Given the description of an element on the screen output the (x, y) to click on. 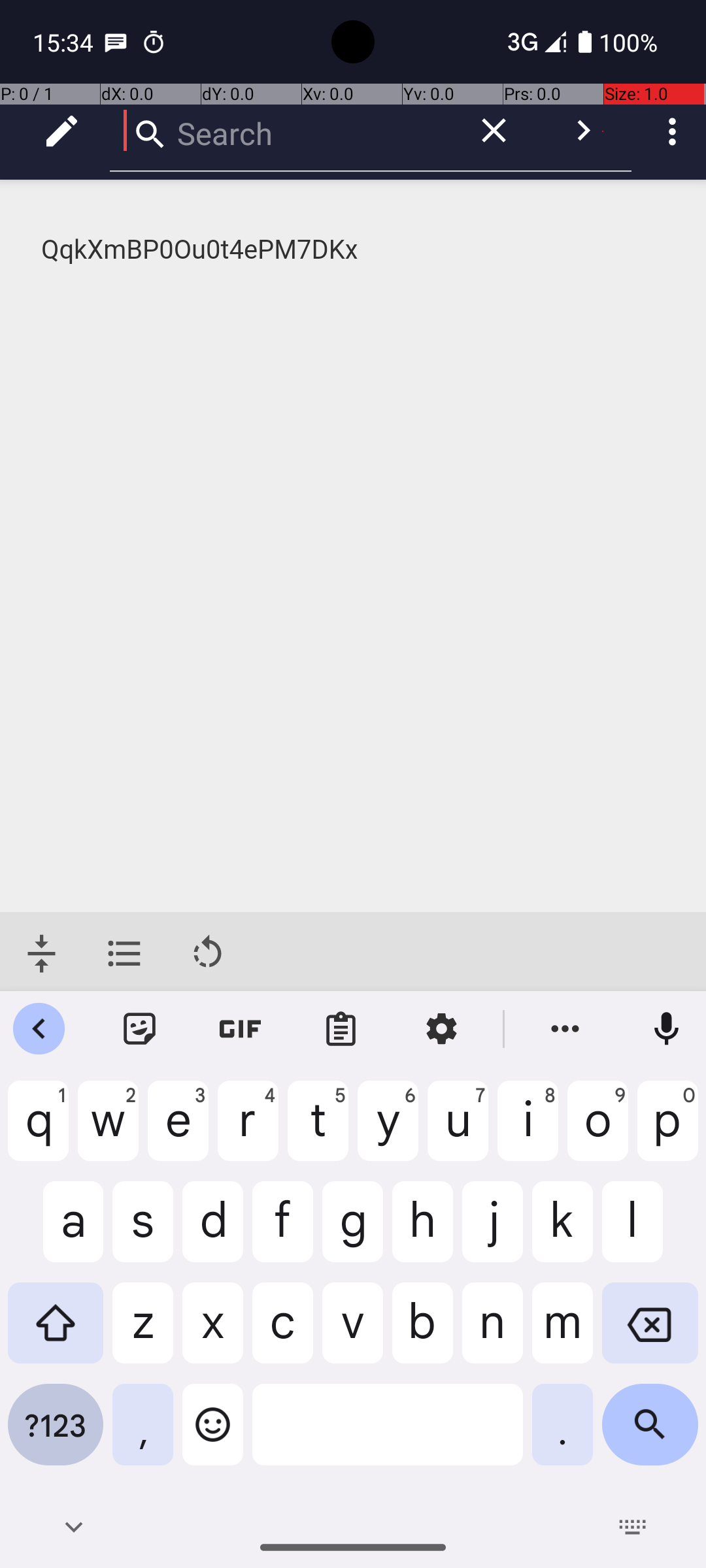
   Search Element type: android.widget.AutoCompleteTextView (280, 130)
QqkXmBP0Ou0t4ePM7DKx Element type: android.widget.TextView (354, 249)
